Given the description of an element on the screen output the (x, y) to click on. 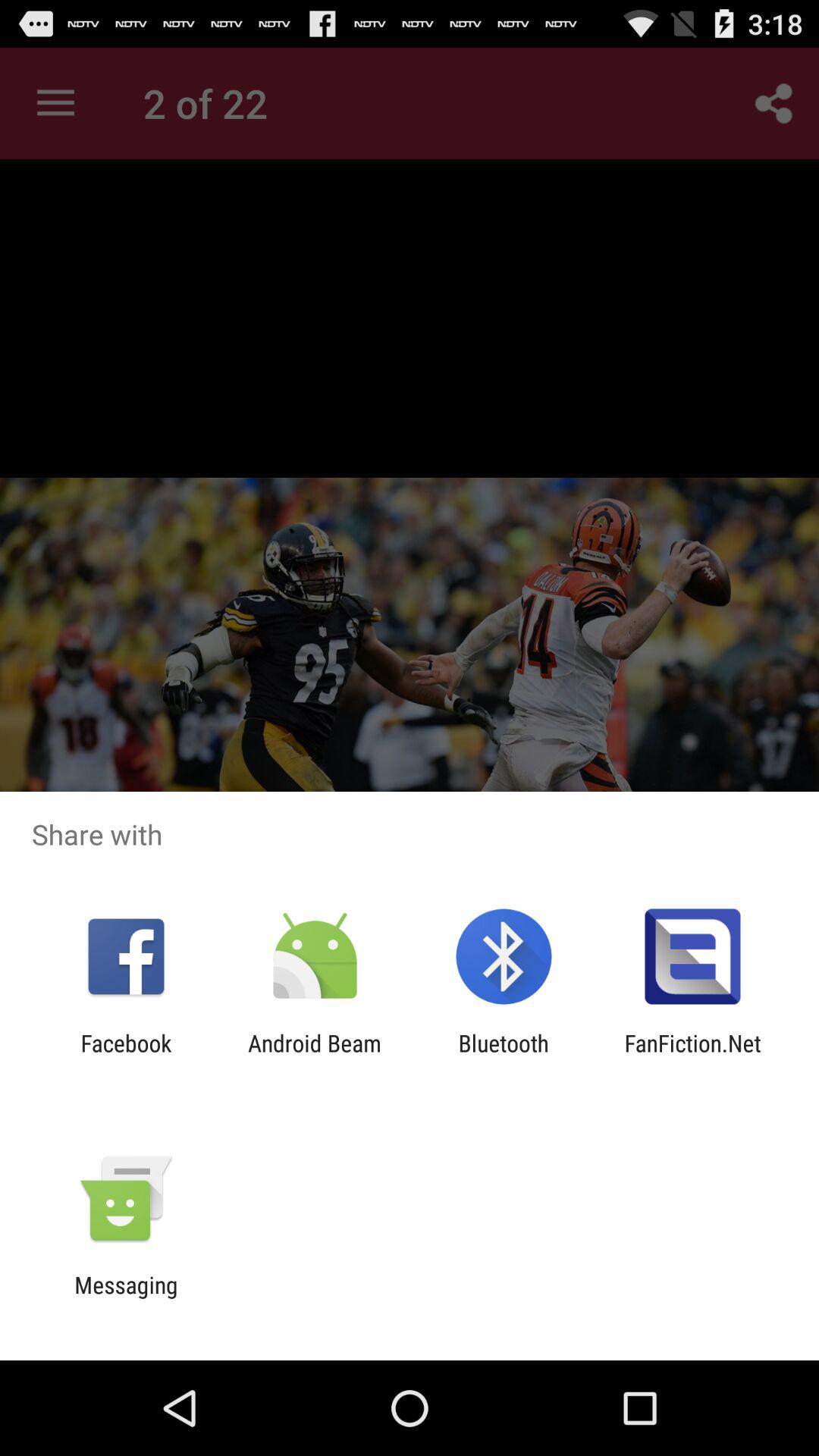
choose item at the bottom right corner (692, 1056)
